Given the description of an element on the screen output the (x, y) to click on. 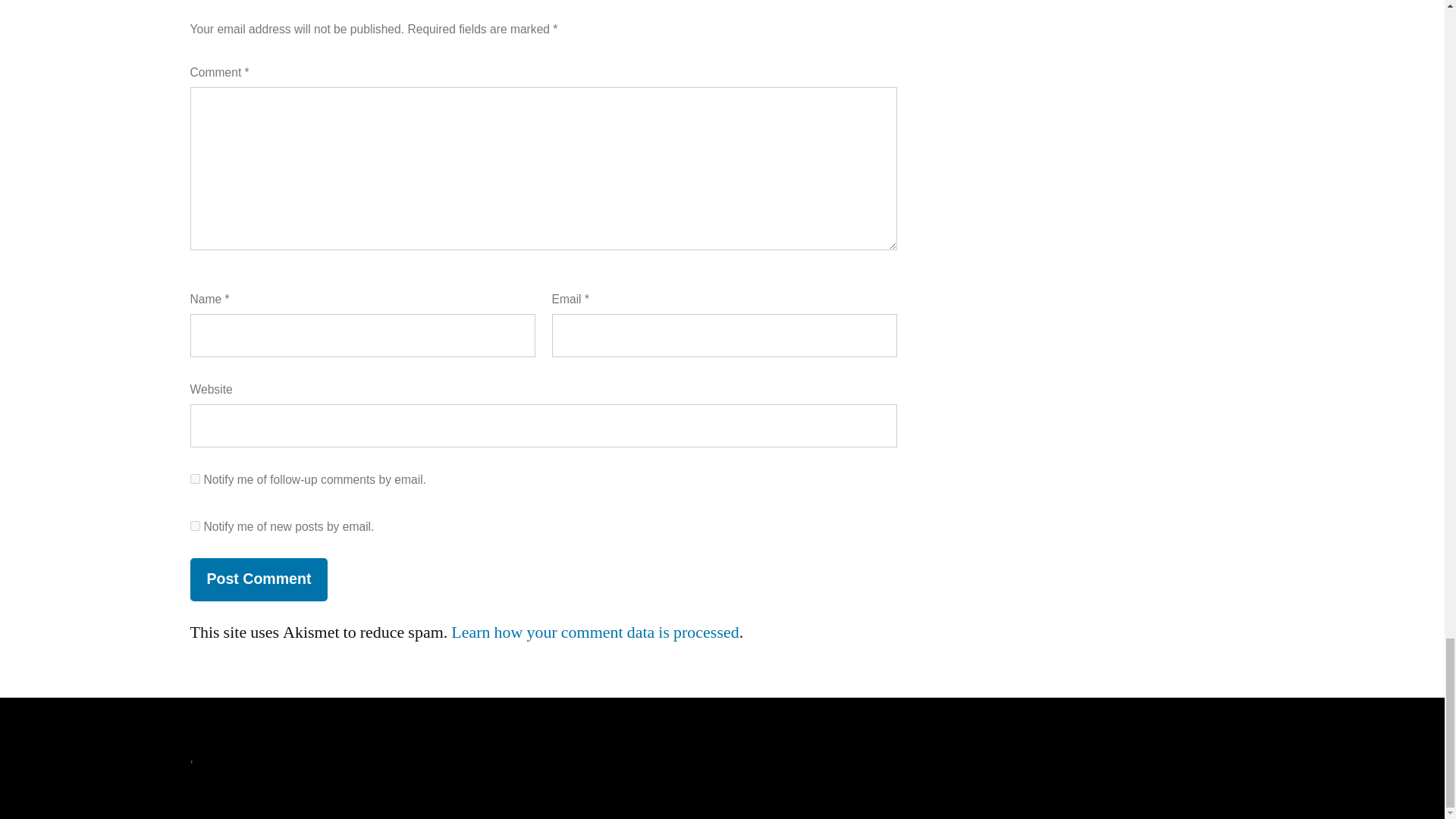
Learn how your comment data is processed (594, 631)
subscribe (194, 479)
subscribe (194, 525)
Post Comment (258, 579)
Post Comment (258, 579)
